Given the description of an element on the screen output the (x, y) to click on. 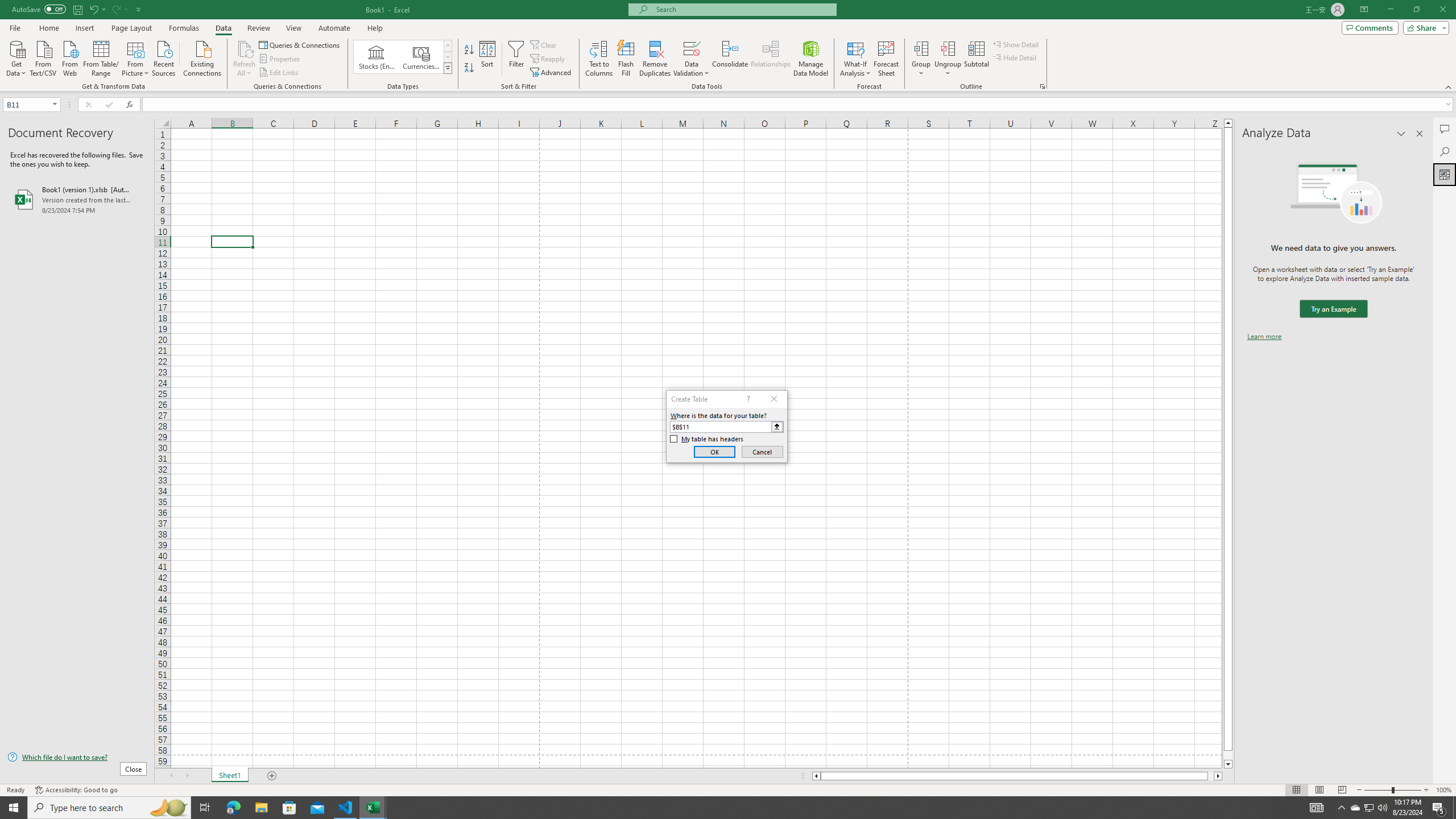
Properties (280, 58)
Data Validation... (691, 58)
Page down (1228, 755)
Forecast Sheet (885, 58)
Stocks (English) (375, 56)
Learn more (1264, 336)
Class: MsoCommandBar (728, 45)
Formula Bar (799, 104)
Group... (921, 48)
